Given the description of an element on the screen output the (x, y) to click on. 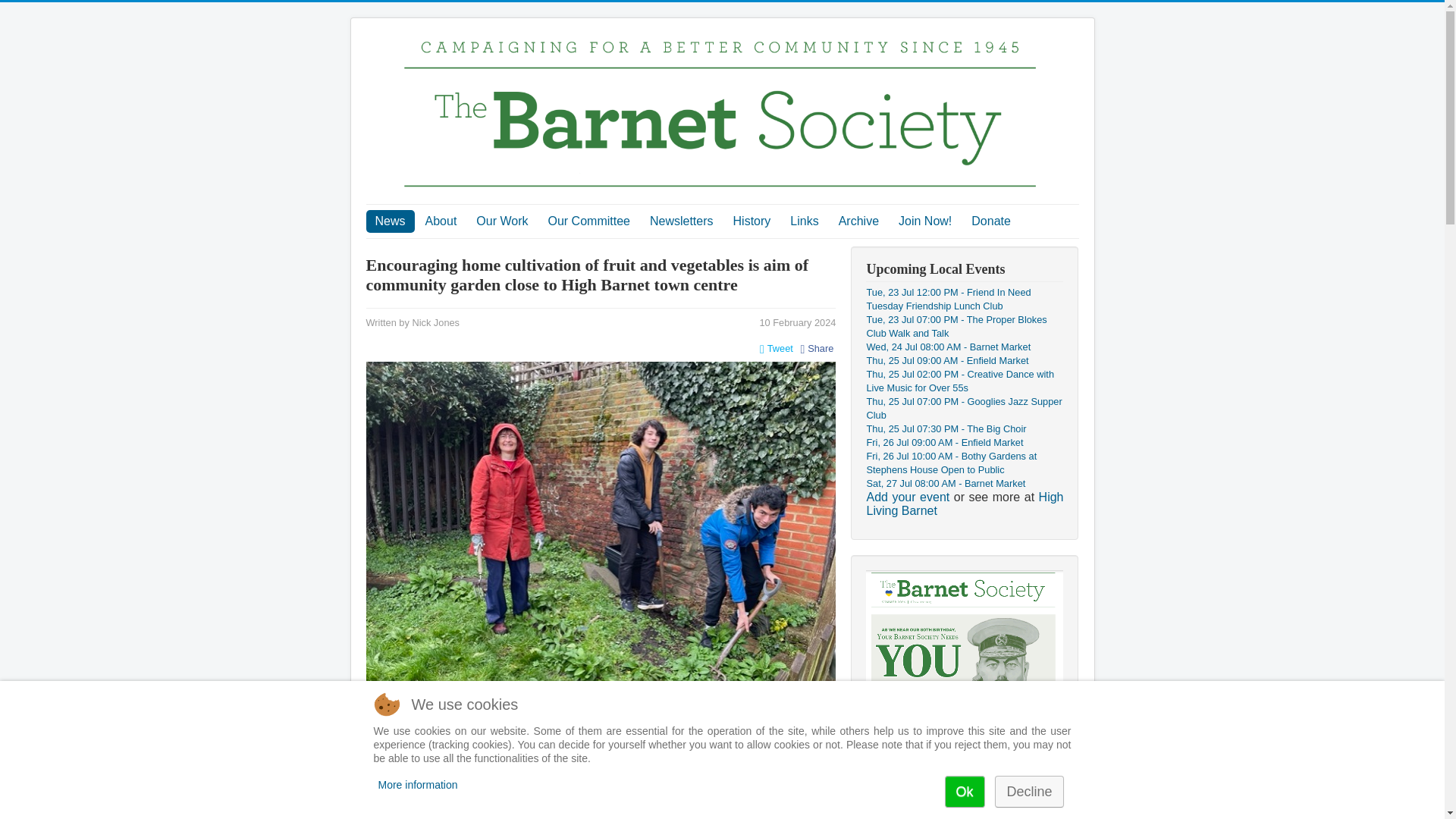
Tue, 23 Jul 07:00 PM - The Proper Blokes Club Walk and Talk (956, 326)
Links (803, 220)
About (440, 220)
Thu, 25 Jul 07:00 PM - Googlies Jazz Supper Club (963, 407)
Tweet (776, 349)
Our Committee (588, 220)
Donate (991, 220)
Add your event (907, 496)
History (751, 220)
Thu, 25 Jul 07:30 PM - The Big Choir (946, 428)
High Living Barnet (964, 503)
Our Work (502, 220)
Thu, 25 Jul 09:00 AM - Enfield Market (946, 360)
Sat, 27 Jul 08:00 AM - Barnet Market (945, 482)
